Given the description of an element on the screen output the (x, y) to click on. 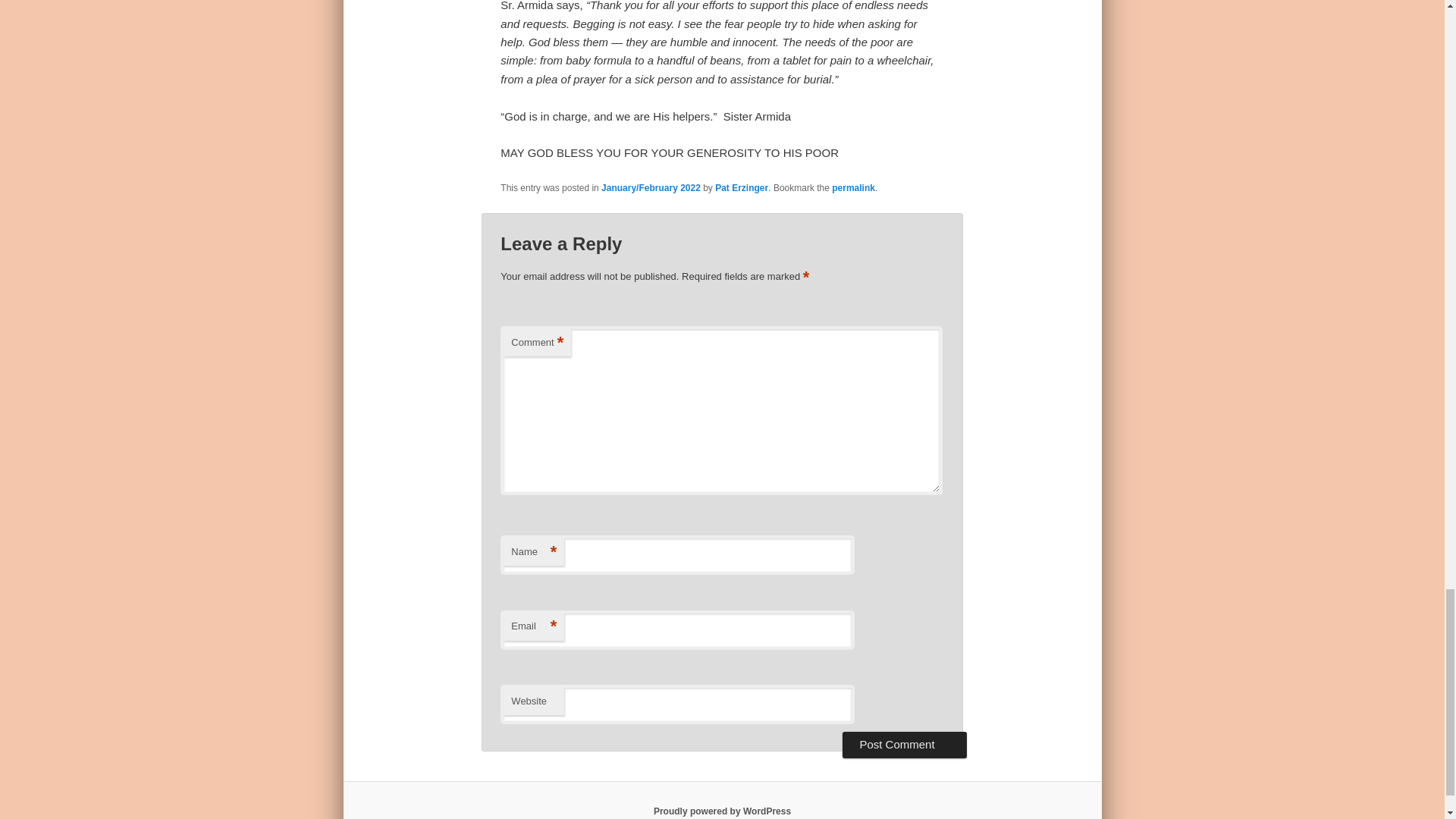
Post Comment (904, 744)
Post Comment (904, 744)
Pat Erzinger (741, 187)
permalink (853, 187)
Proudly powered by WordPress (721, 810)
Semantic Personal Publishing Platform (721, 810)
